Given the description of an element on the screen output the (x, y) to click on. 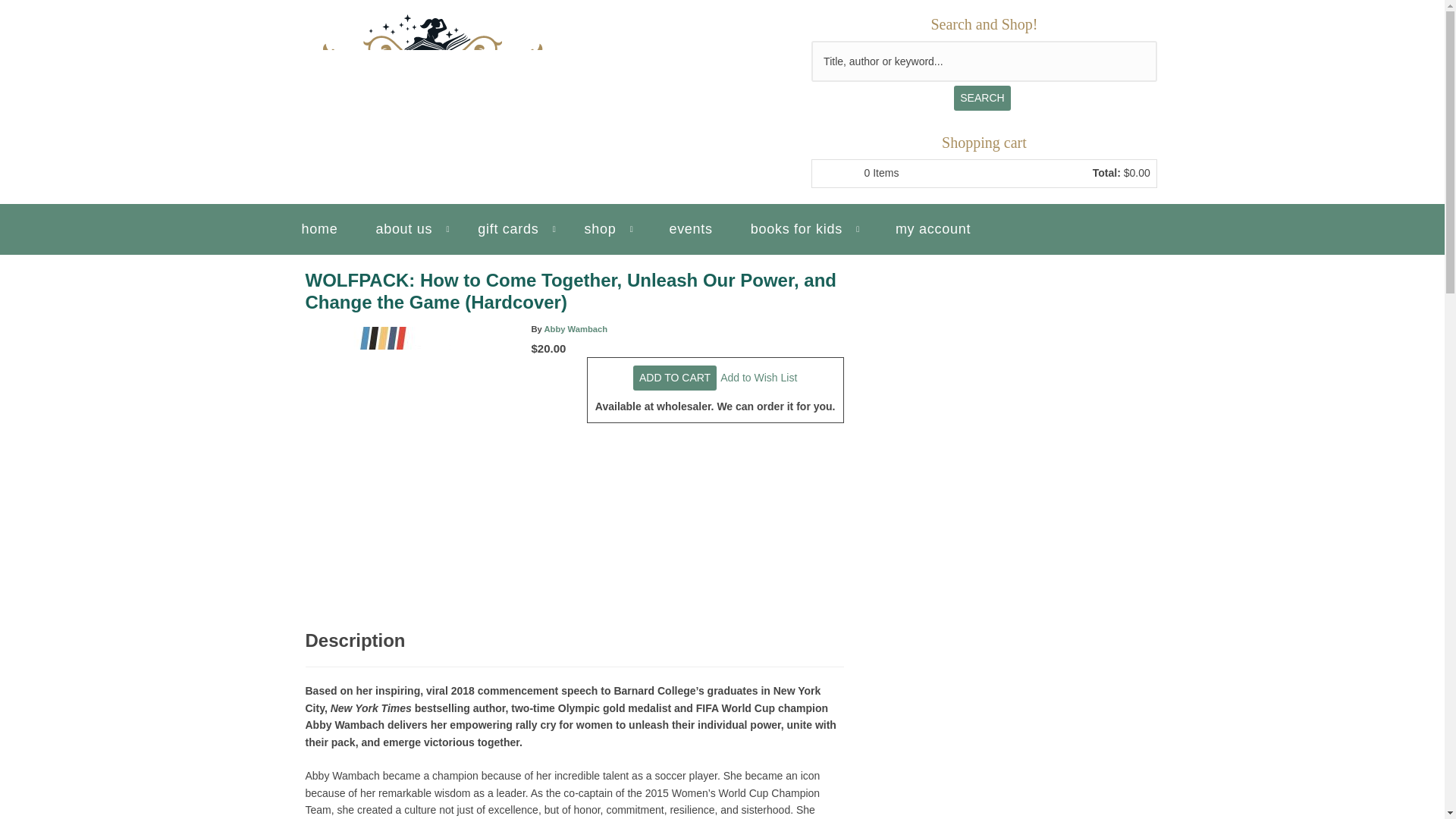
Add to Cart (674, 377)
about us (411, 228)
shop (607, 228)
search (981, 97)
Title, author or keyword... (983, 60)
home (320, 228)
events (690, 228)
gift cards (516, 228)
books for kids (803, 228)
